Given the description of an element on the screen output the (x, y) to click on. 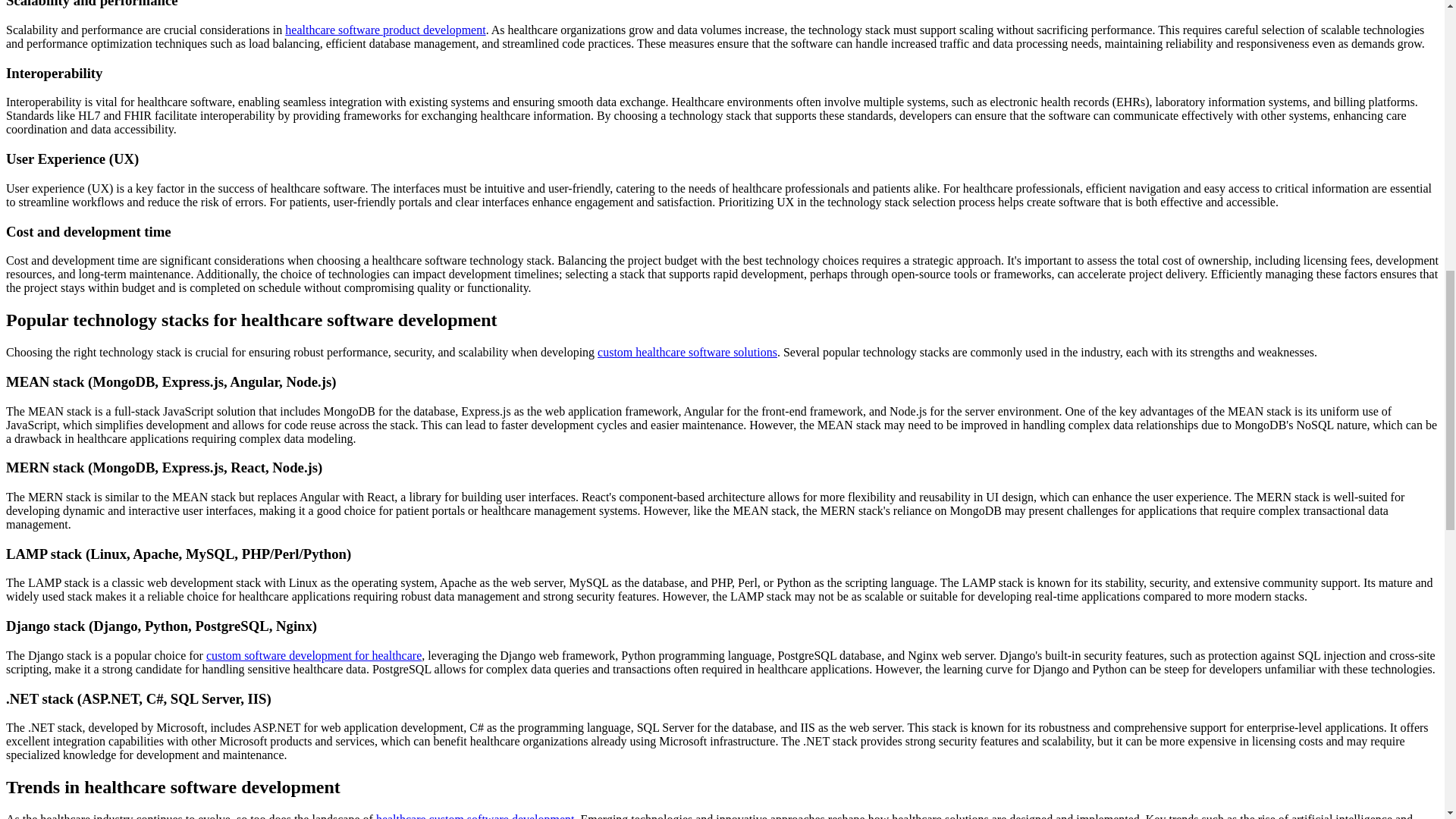
healthcare software product development (384, 29)
custom software development for healthcare (314, 655)
custom healthcare software solutions (686, 351)
healthcare custom software development (475, 816)
